Given the description of an element on the screen output the (x, y) to click on. 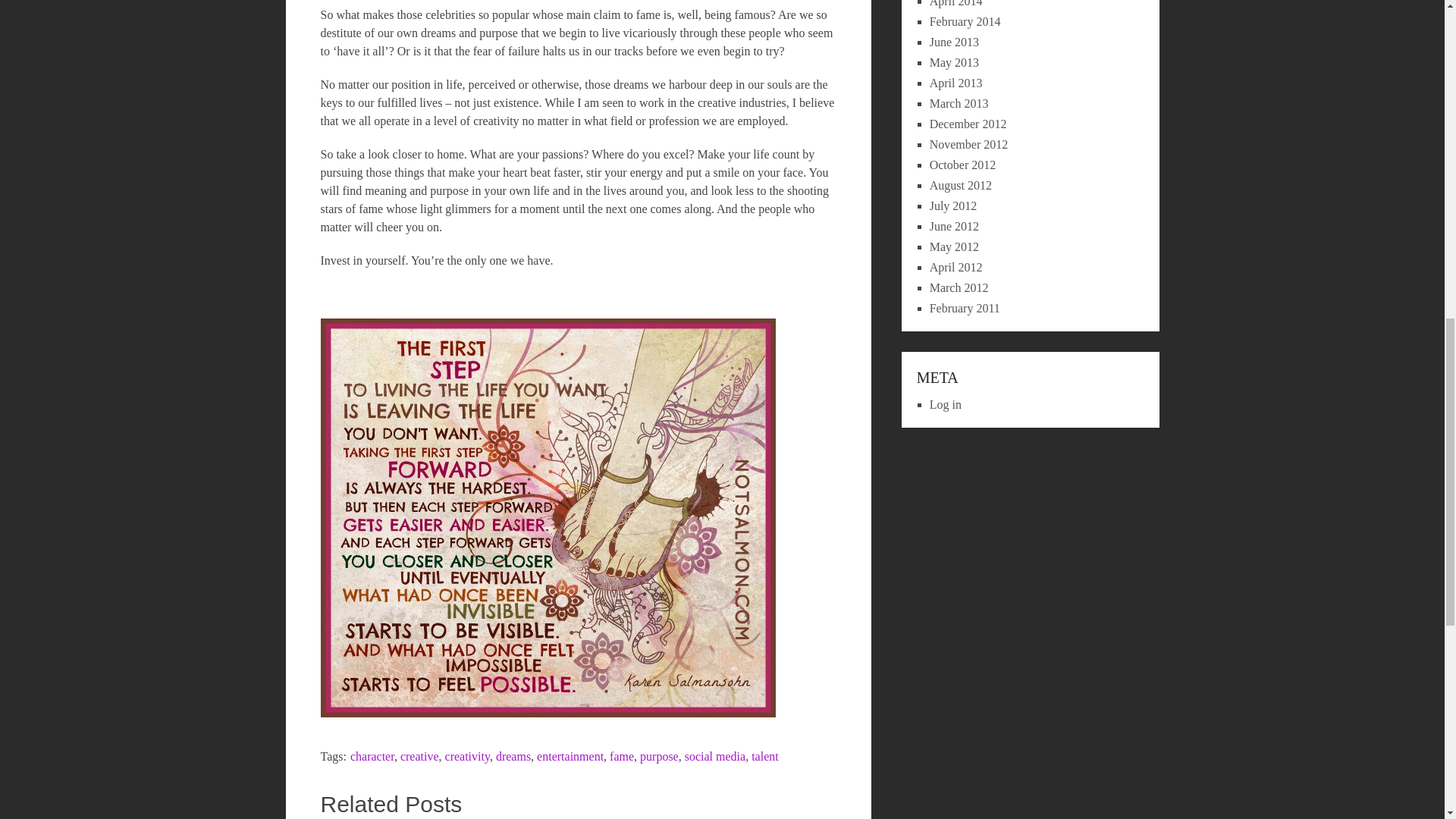
December 2012 (968, 123)
May 2013 (954, 62)
creativity (467, 756)
entertainment (570, 756)
June 2013 (954, 42)
fame (621, 756)
February 2014 (965, 21)
talent (764, 756)
October 2012 (962, 164)
November 2012 (969, 144)
purpose (659, 756)
April 2014 (956, 3)
social media (714, 756)
character (372, 756)
April 2013 (956, 82)
